Given the description of an element on the screen output the (x, y) to click on. 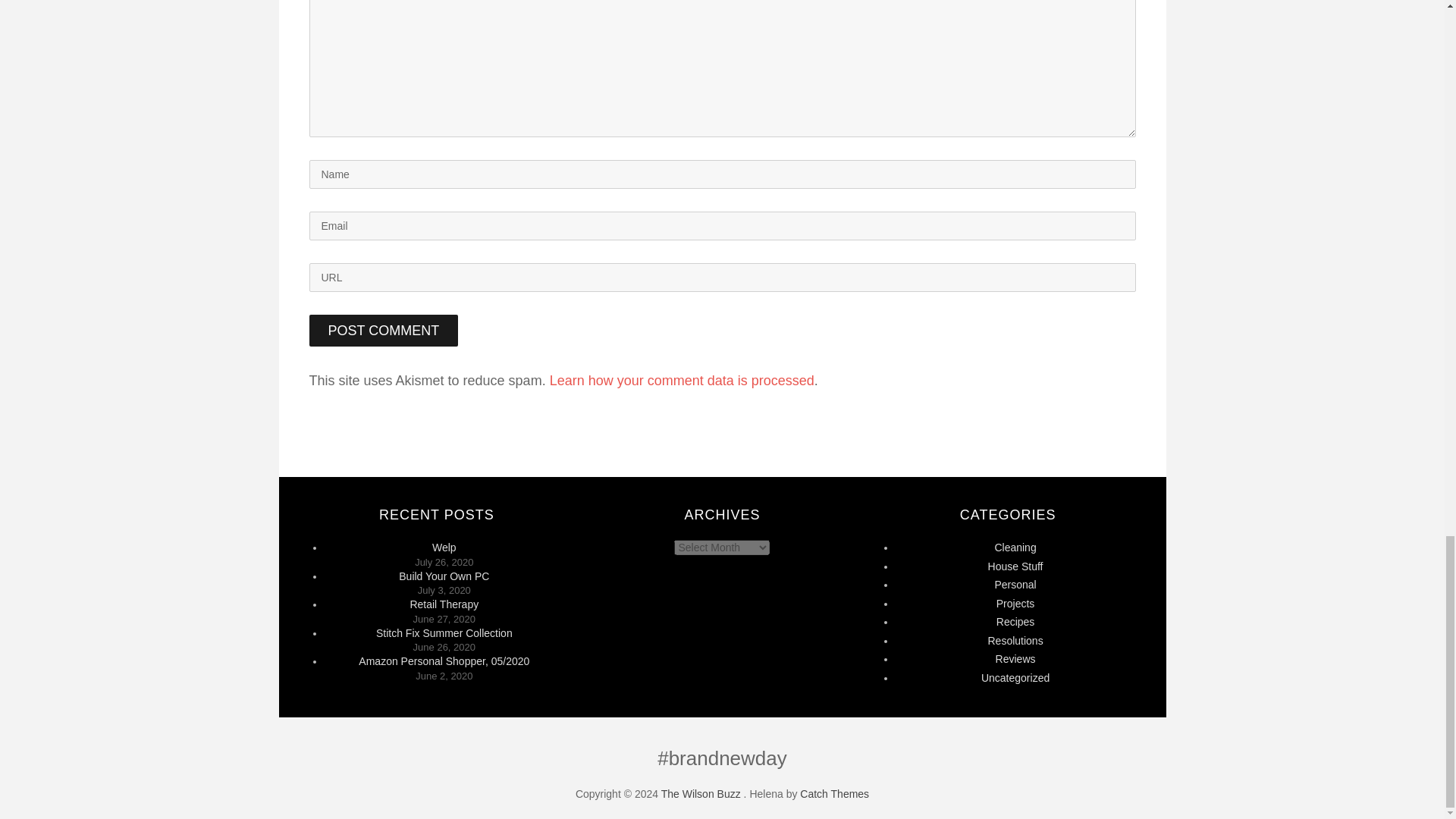
Build Your Own PC (443, 576)
Welp (444, 547)
Uncategorized (1015, 677)
Retail Therapy (444, 604)
Post Comment (383, 330)
Stitch Fix Summer Collection (443, 633)
Recipes (1015, 621)
Post Comment (383, 330)
Reviews (1015, 658)
Personal (1014, 584)
